Given the description of an element on the screen output the (x, y) to click on. 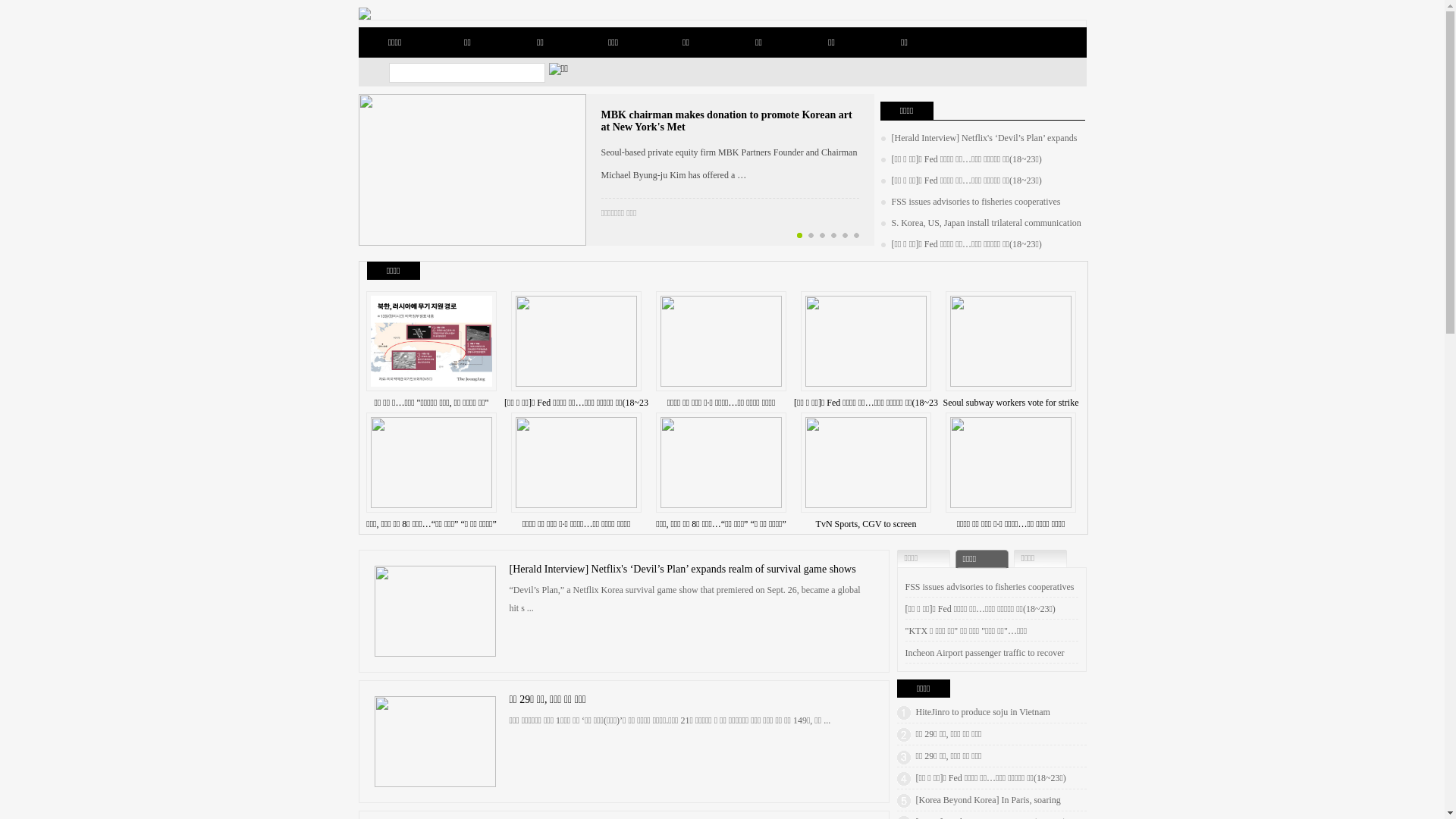
HiteJinro to produce soju in Vietnam Element type: text (983, 711)
Seoul subway workers vote for strike plan Element type: text (1011, 413)
